Given the description of an element on the screen output the (x, y) to click on. 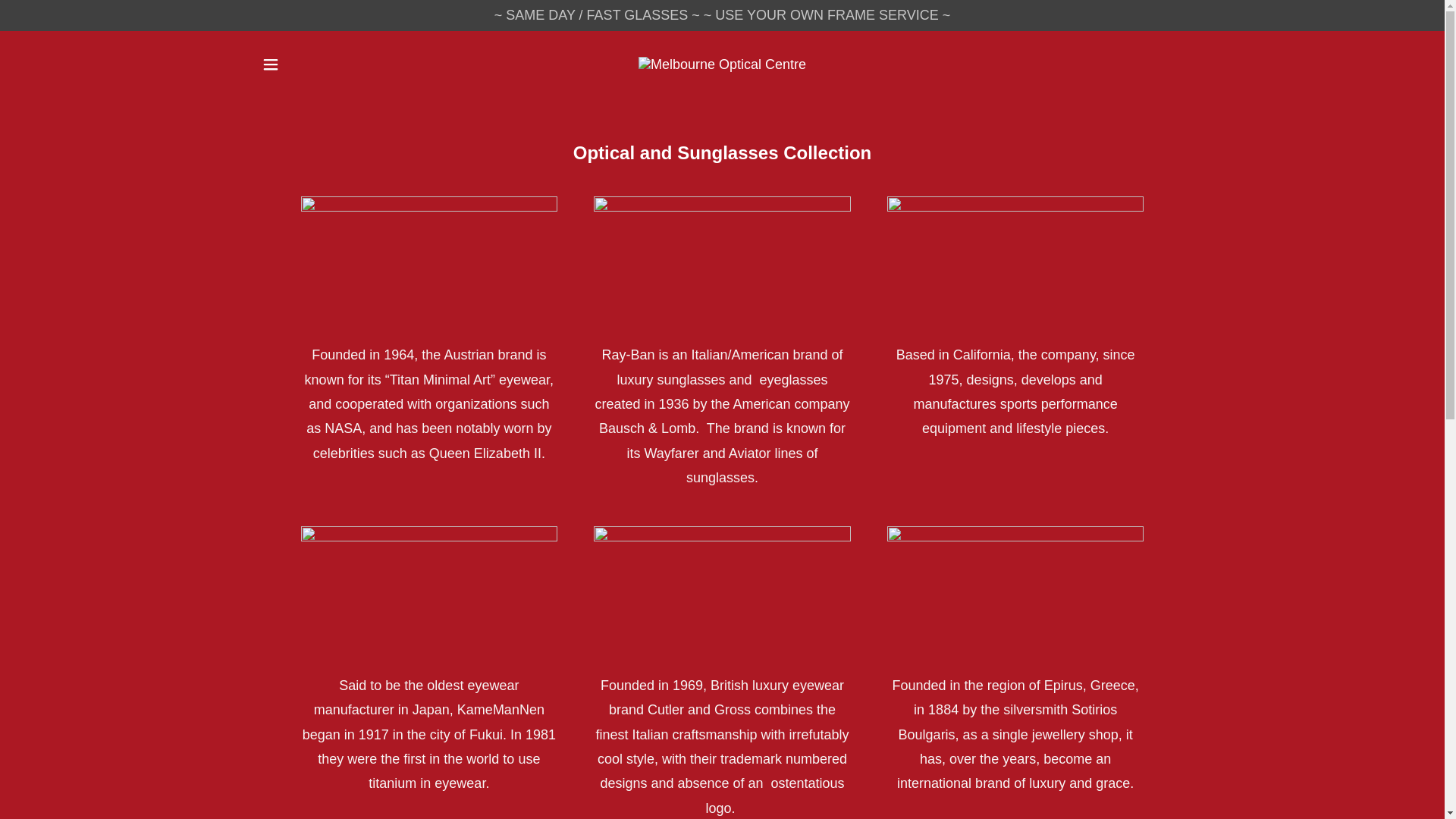
~ SAME DAY / FAST GLASSES ~ ~ USE YOUR OWN FRAME SERVICE ~ Element type: text (722, 15)
Melbourne Optical Centre Element type: hover (722, 63)
